Given the description of an element on the screen output the (x, y) to click on. 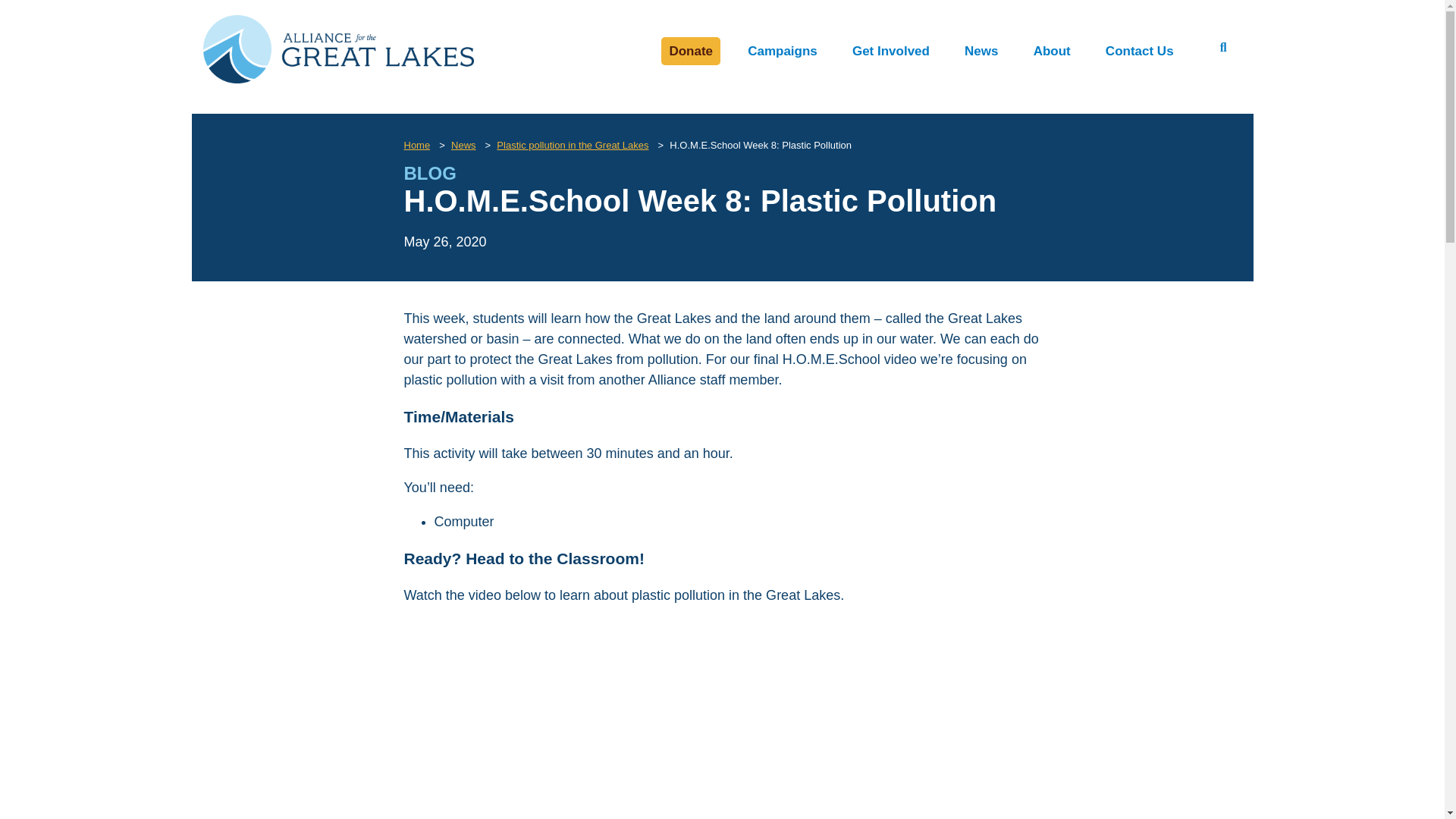
Get Involved (890, 50)
Contact Us (1138, 50)
Donate (690, 50)
News (463, 144)
Alliance for the Great Lakes (338, 78)
Campaigns (782, 50)
About (1052, 50)
Home (416, 144)
News (981, 50)
H.O.M.E.School: Plastic Pollution (722, 719)
